Given the description of an element on the screen output the (x, y) to click on. 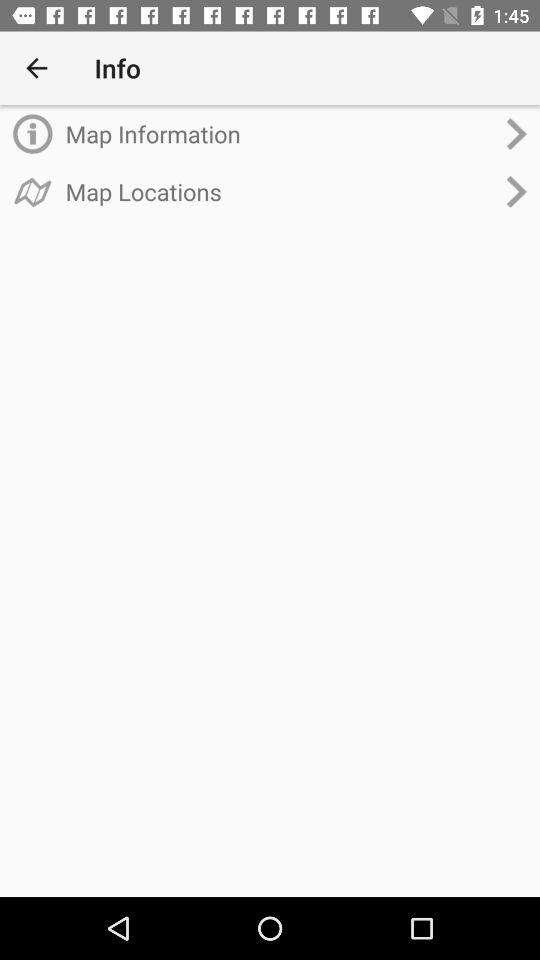
choose the item to the left of info (36, 68)
